Given the description of an element on the screen output the (x, y) to click on. 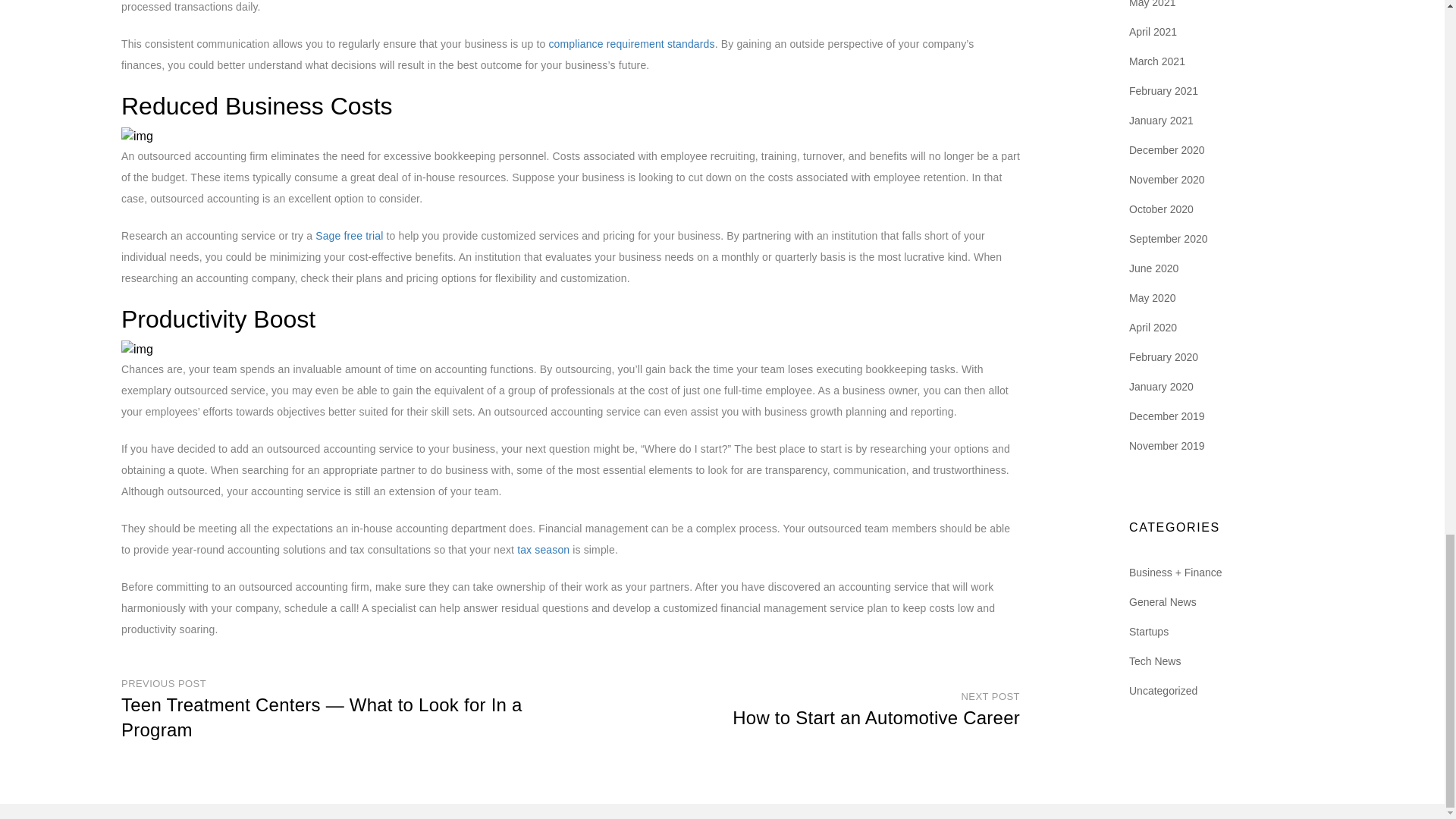
tax season (542, 549)
Sage free trial (348, 235)
compliance requirement standards (631, 43)
